Given the description of an element on the screen output the (x, y) to click on. 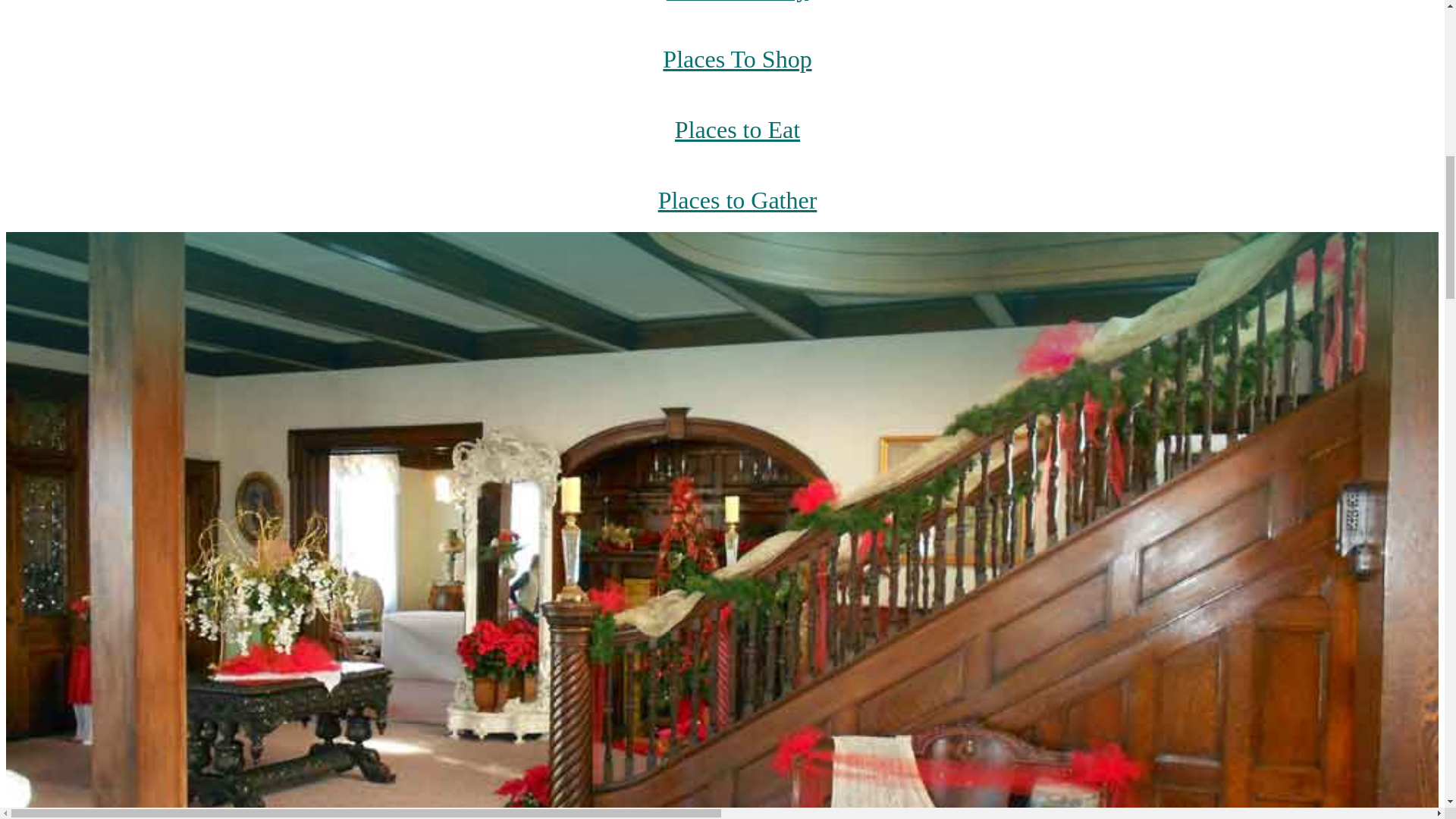
Places To Stay (737, 12)
